Given the description of an element on the screen output the (x, y) to click on. 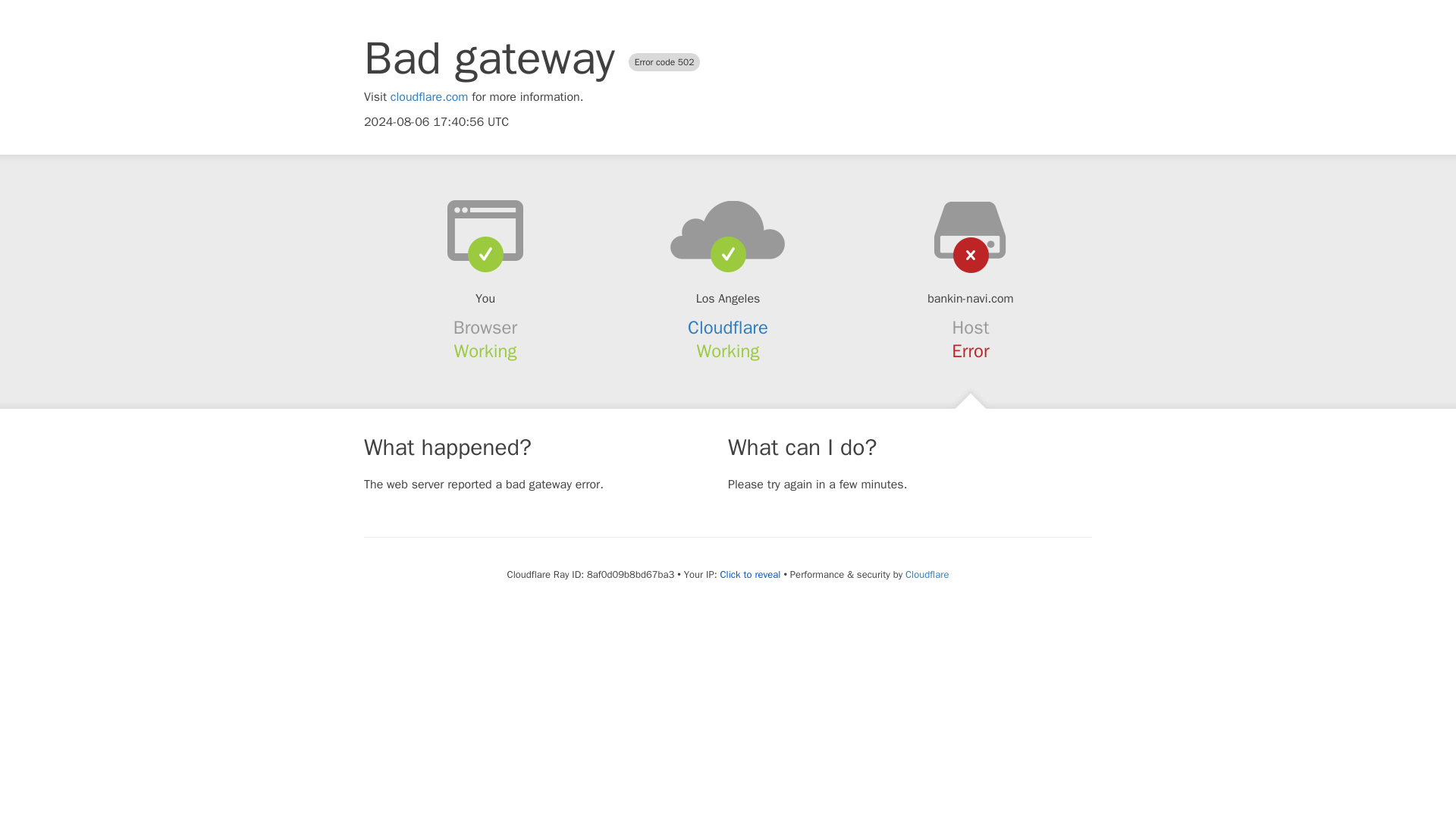
Cloudflare (927, 574)
Cloudflare (727, 327)
cloudflare.com (429, 96)
Click to reveal (750, 574)
